Given the description of an element on the screen output the (x, y) to click on. 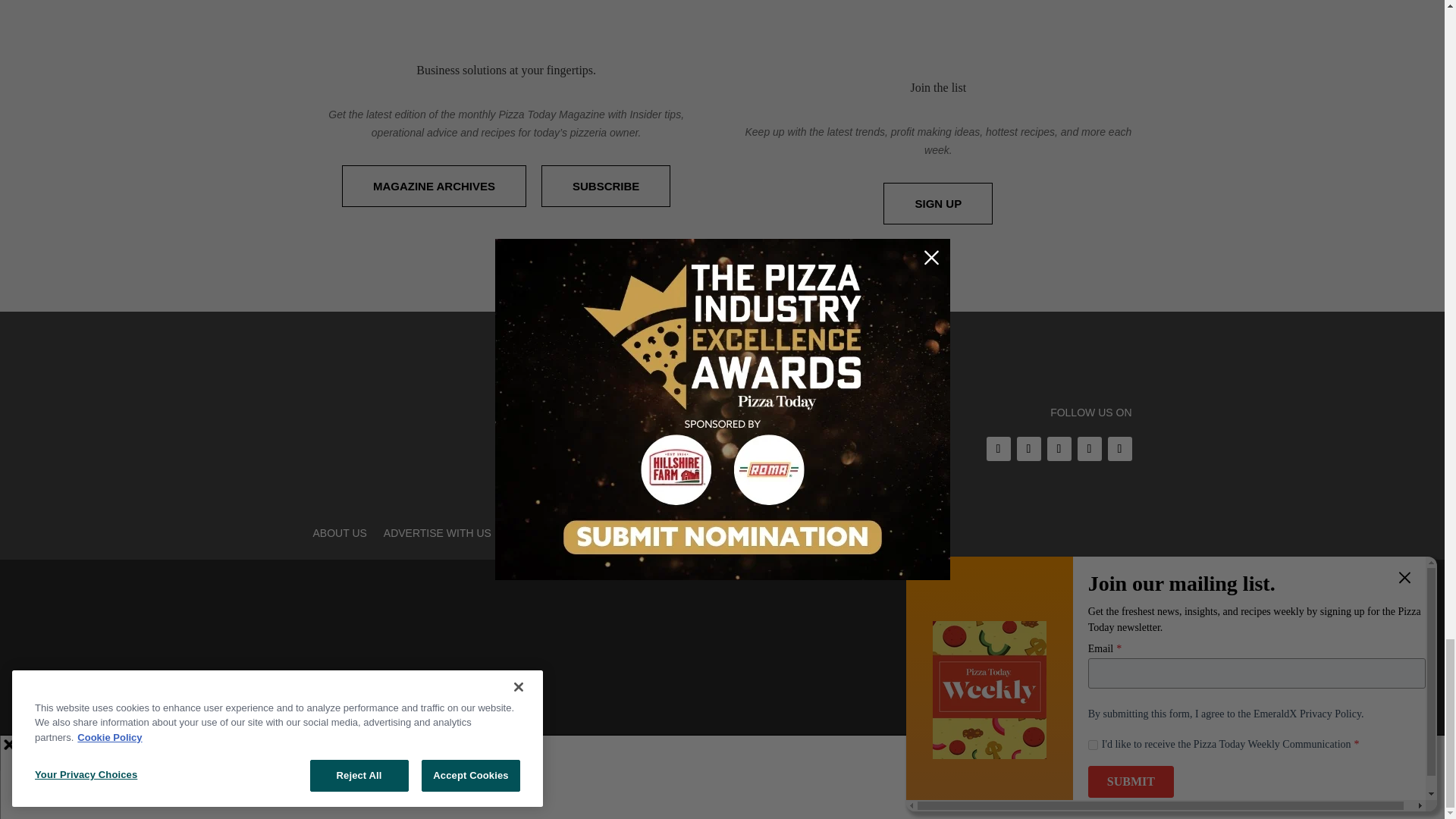
careers (563, 793)
Follow on LinkedIn (1088, 448)
about (510, 793)
authorized-service-providers (688, 793)
Follow on Instagram (1058, 448)
Follow on Youtube (1118, 448)
Follow on X (1028, 448)
Follow on Facebook (997, 448)
